Given the description of an element on the screen output the (x, y) to click on. 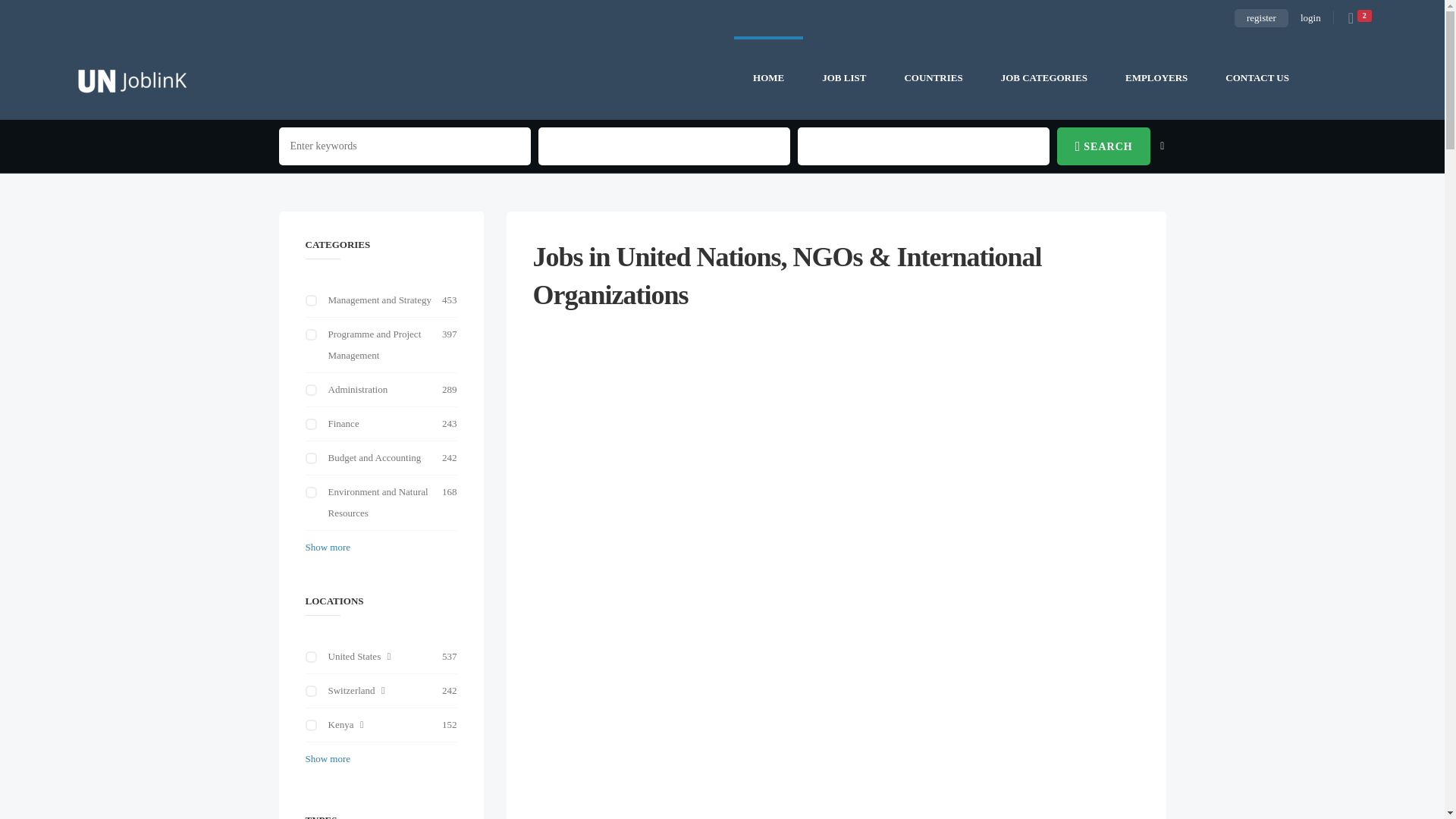
Advertisement (835, 689)
login (1310, 18)
EMPLOYERS (1156, 77)
SEARCH (1103, 146)
Do not enter special characters (405, 146)
UNJoblink Careers (132, 77)
CONTACT US (1257, 77)
COUNTRIES (933, 77)
register (1261, 18)
JOB LIST (844, 77)
